Given the description of an element on the screen output the (x, y) to click on. 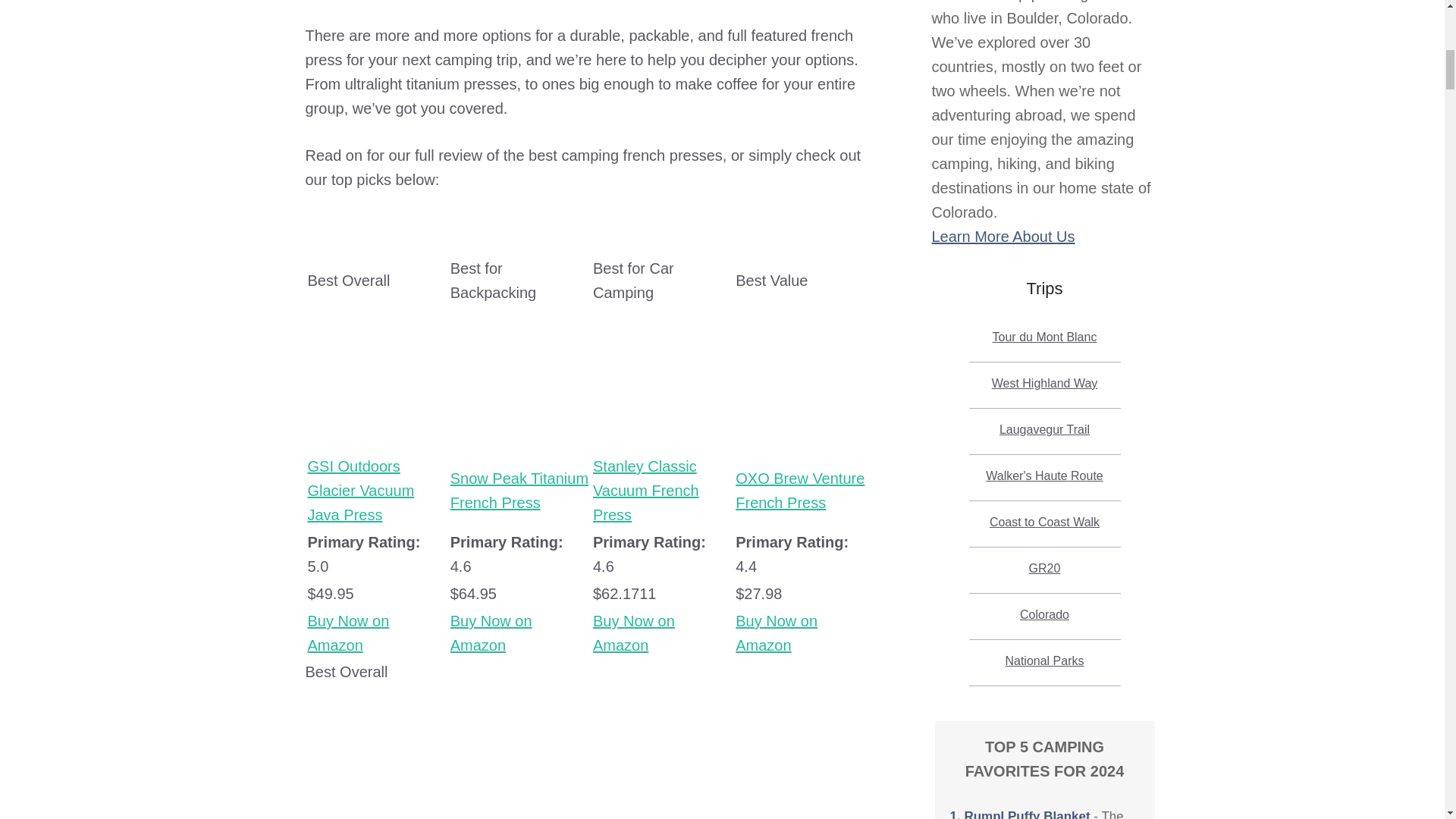
OXO Brew Venture French Press (805, 426)
OXO Brew Venture French Press (799, 490)
Snow Peak Titanium French Press (490, 632)
Snow Peak Titanium French Press (518, 490)
Snow Peak Titanium French Press (518, 490)
Snow Peak Titanium French Press (519, 438)
GSI Outdoors Glacier Vacuum Java Press (348, 632)
GSI Outdoors Glacier Vacuum Java Press (376, 426)
OXO Brew Venture French Press (799, 490)
GSI Outdoors Glacier Vacuum Java Press (360, 490)
